Given the description of an element on the screen output the (x, y) to click on. 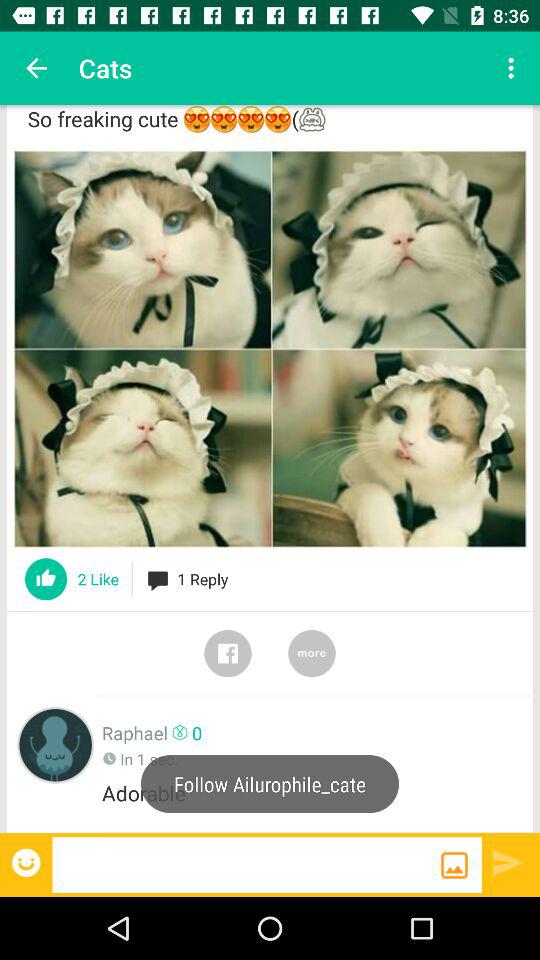
add comment (246, 864)
